Given the description of an element on the screen output the (x, y) to click on. 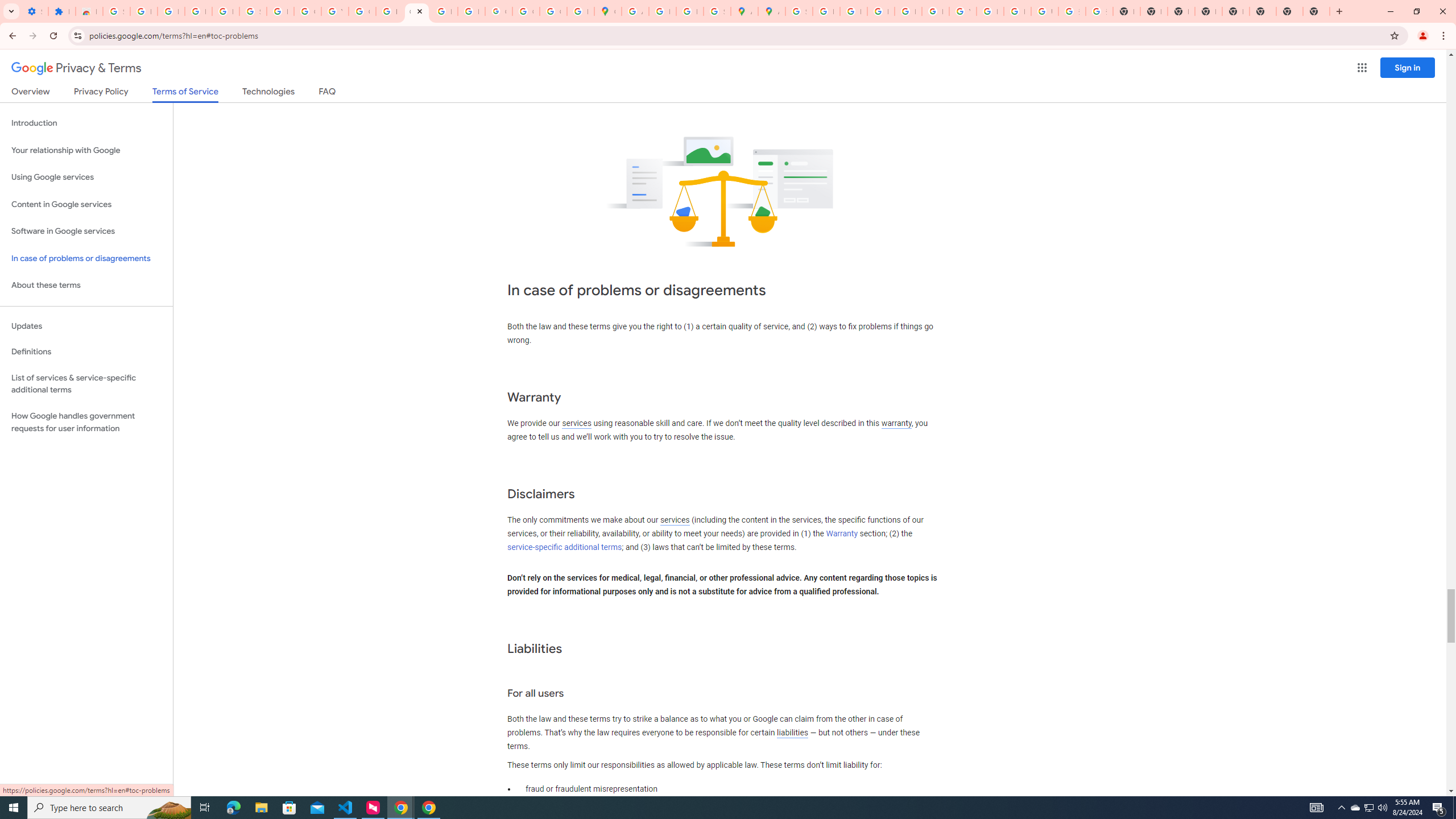
service-specific additional terms (563, 547)
Privacy Help Center - Policies Help (853, 11)
Safety in Our Products - Google Safety Center (716, 11)
Delete photos & videos - Computer - Google Photos Help (170, 11)
Content in Google services (86, 204)
